Given the description of an element on the screen output the (x, y) to click on. 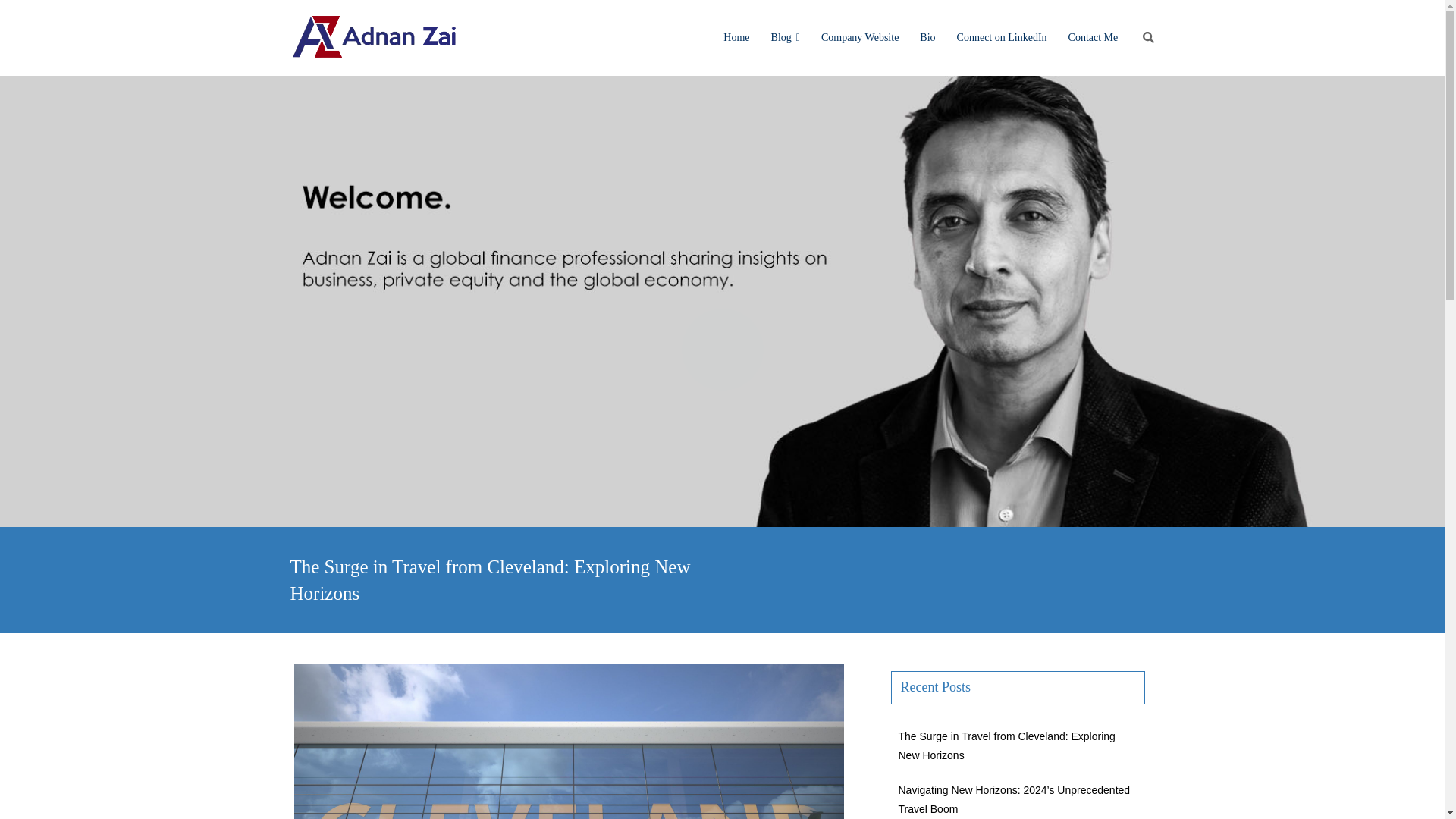
Company Website (859, 38)
Contact Me (1093, 38)
Connect on LinkedIn (1002, 38)
